Given the description of an element on the screen output the (x, y) to click on. 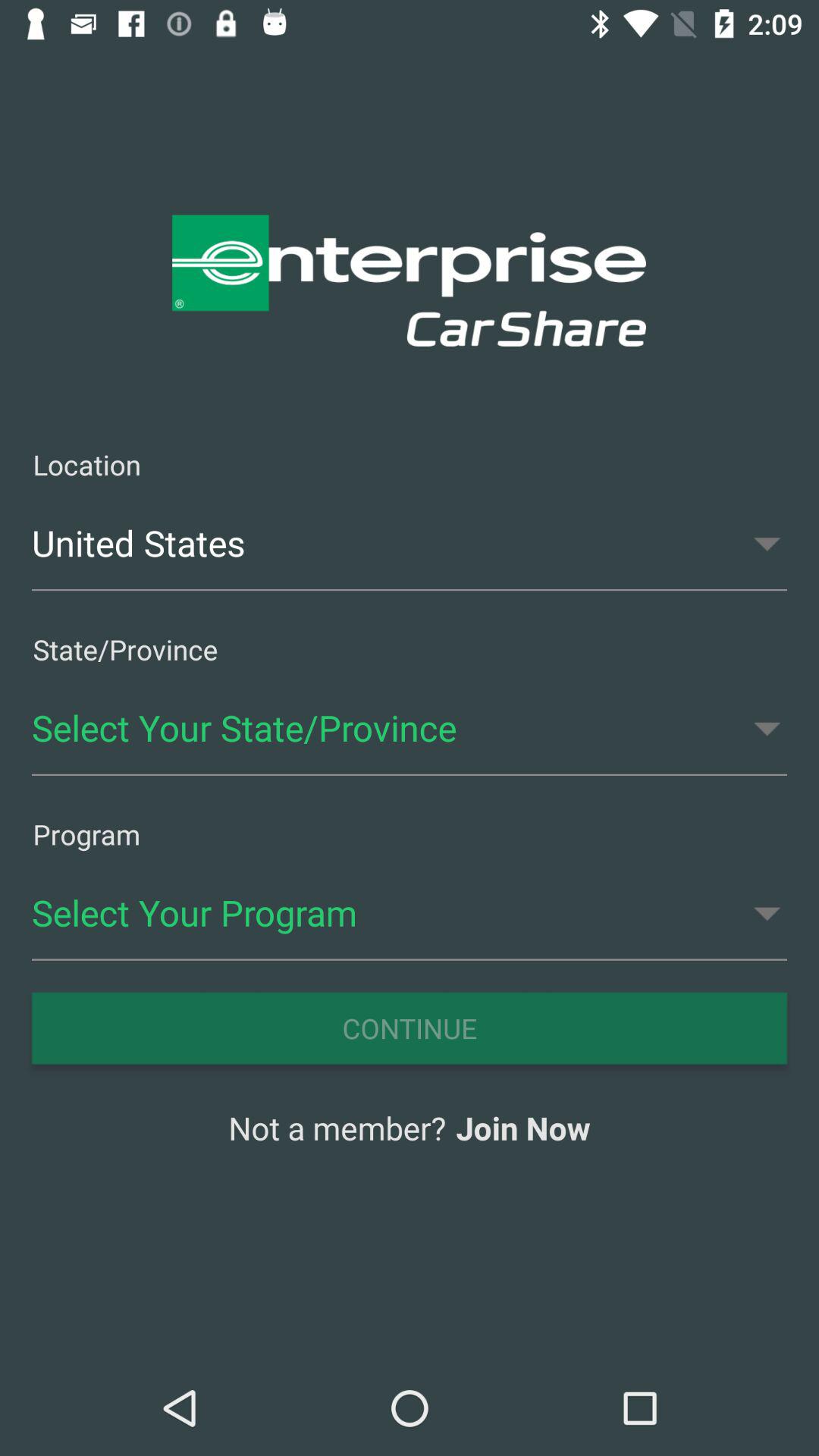
jump until the united states icon (409, 542)
